Given the description of an element on the screen output the (x, y) to click on. 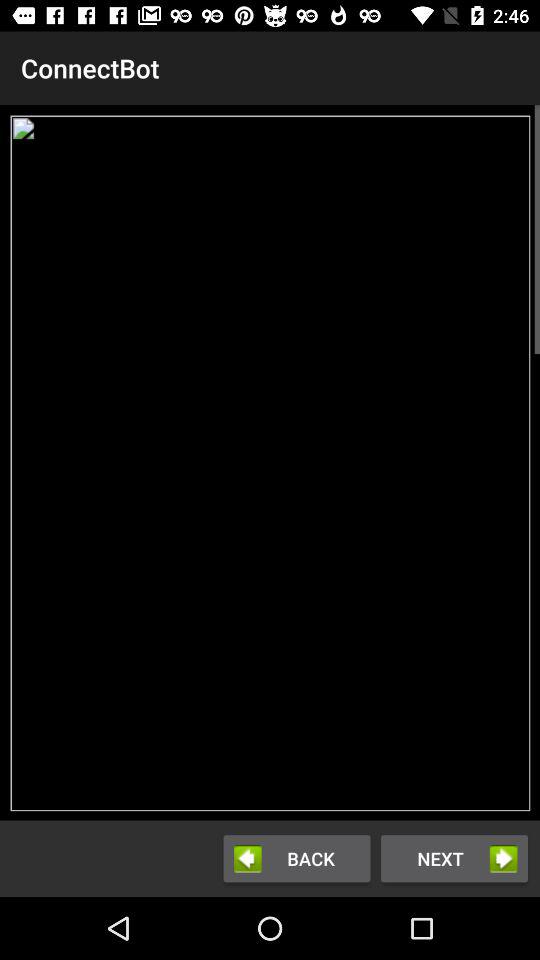
select the item at the center (270, 462)
